Given the description of an element on the screen output the (x, y) to click on. 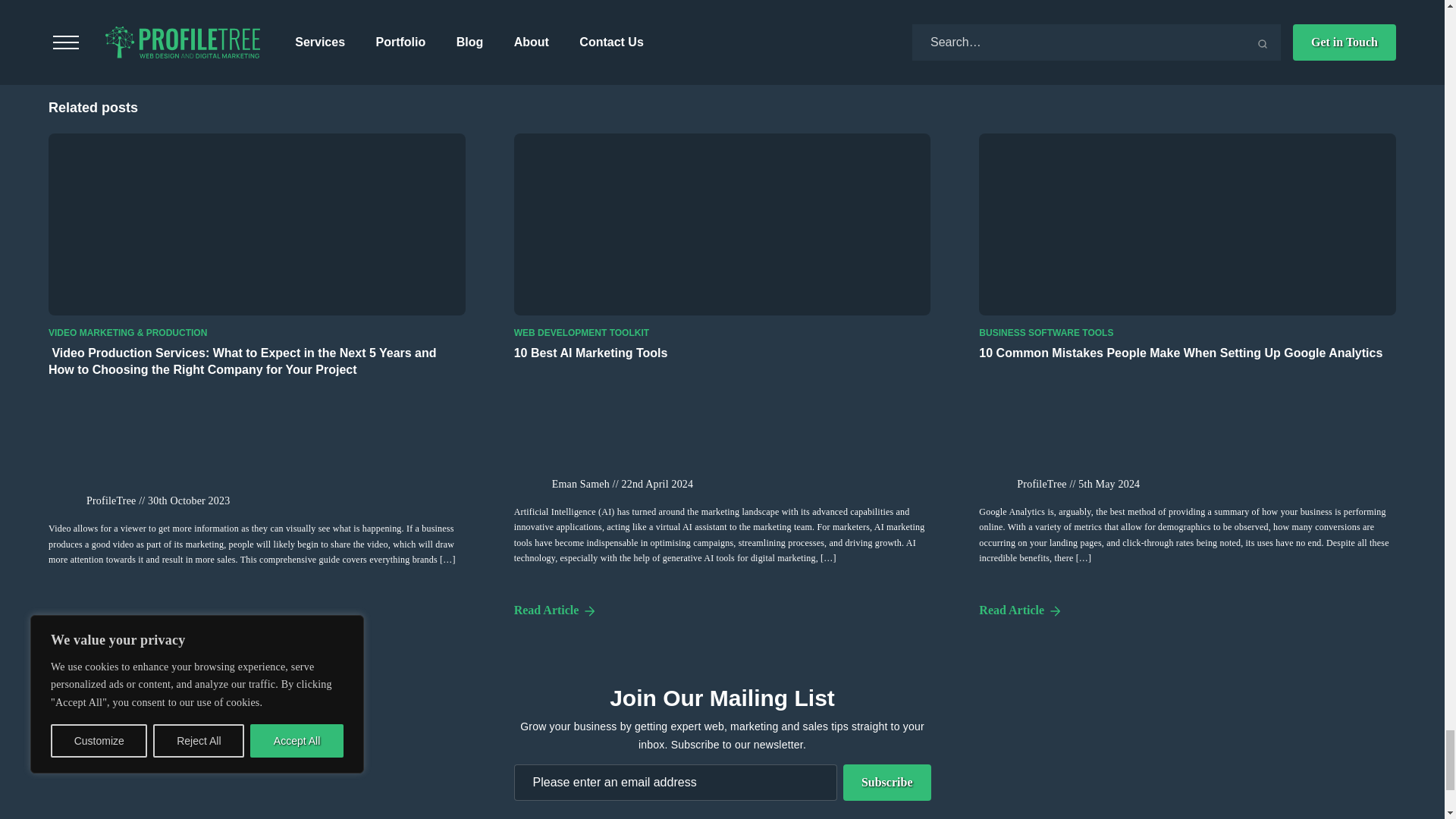
Subscribe (887, 782)
